Given the description of an element on the screen output the (x, y) to click on. 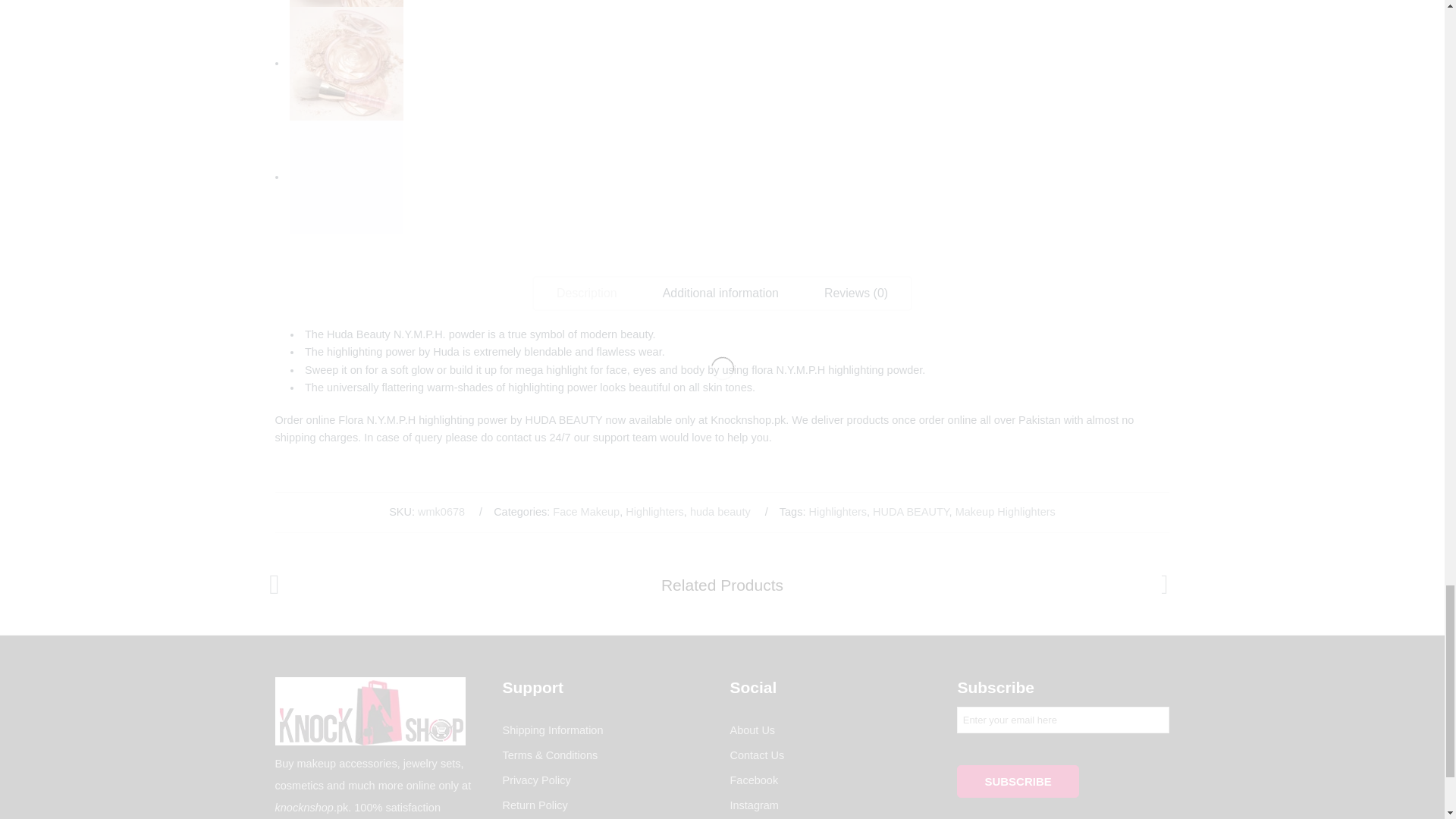
SUBSCRIBE (1017, 780)
